Given the description of an element on the screen output the (x, y) to click on. 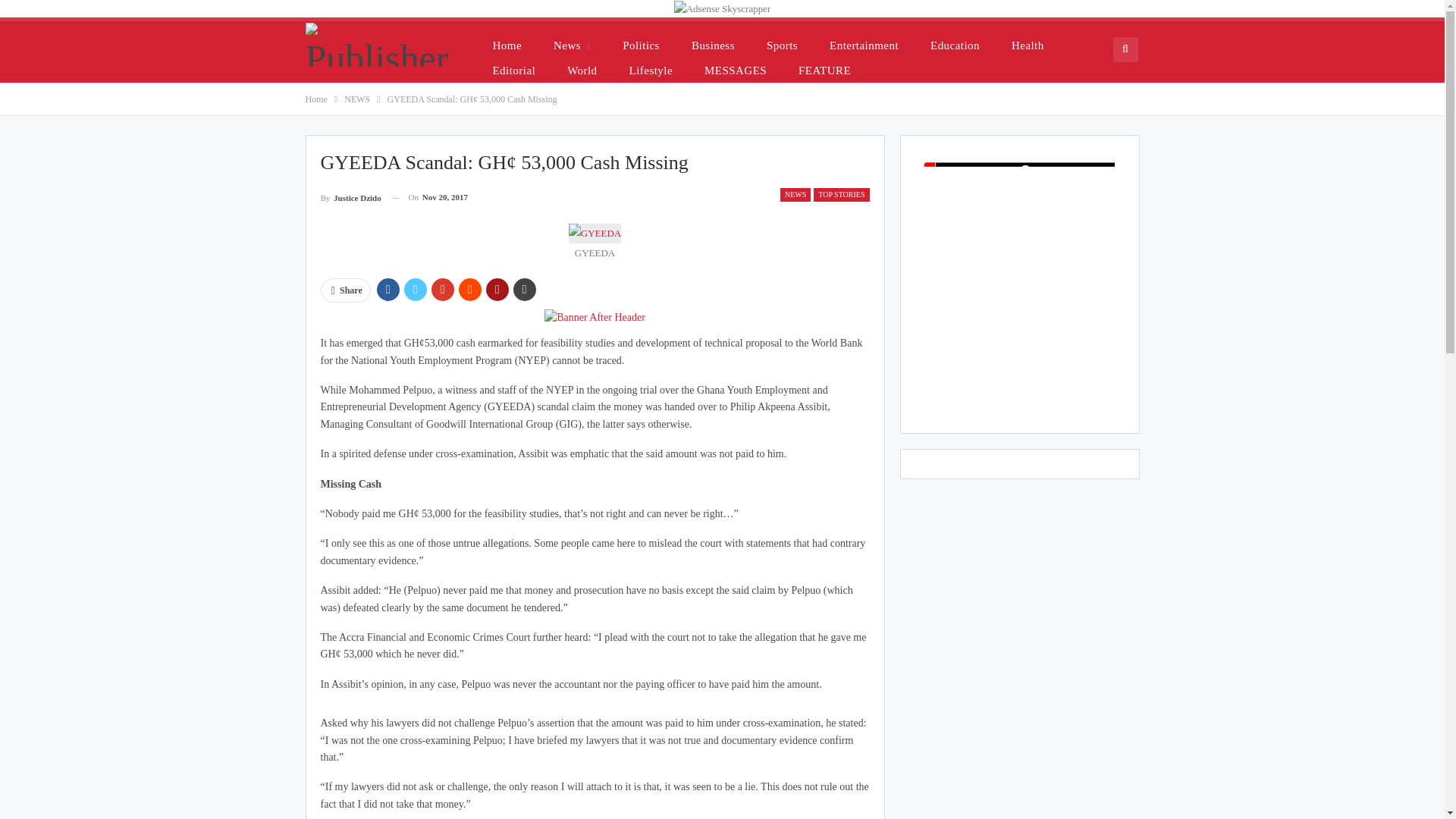
TOP STORIES (841, 194)
By Justice Dzido (350, 197)
Editorial (514, 69)
Health (1027, 44)
Politics (640, 44)
Home (507, 44)
Sports (781, 44)
Browse Author Articles (350, 197)
World (581, 69)
Lifestyle (650, 69)
